Given the description of an element on the screen output the (x, y) to click on. 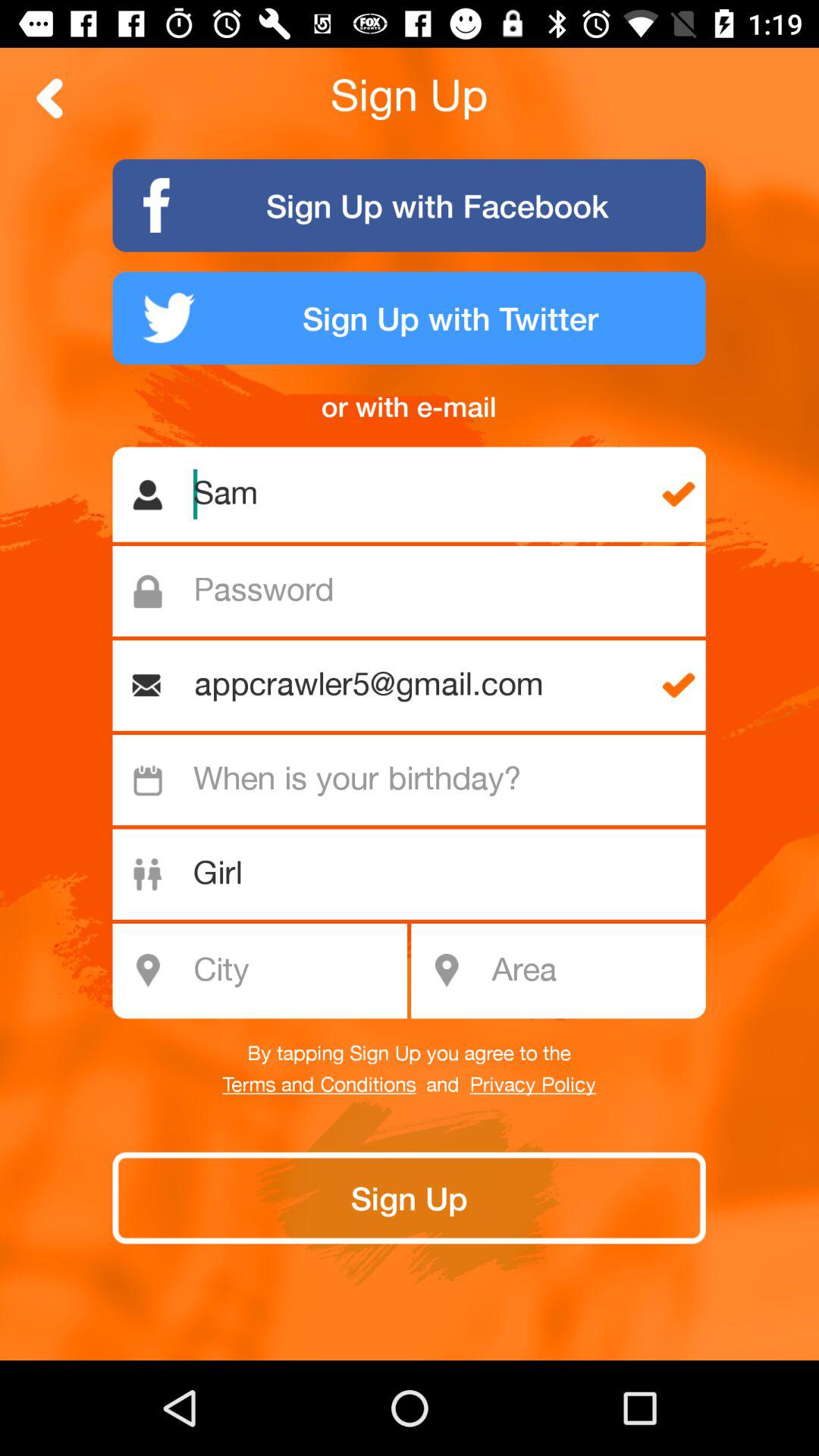
input birthday (417, 779)
